Given the description of an element on the screen output the (x, y) to click on. 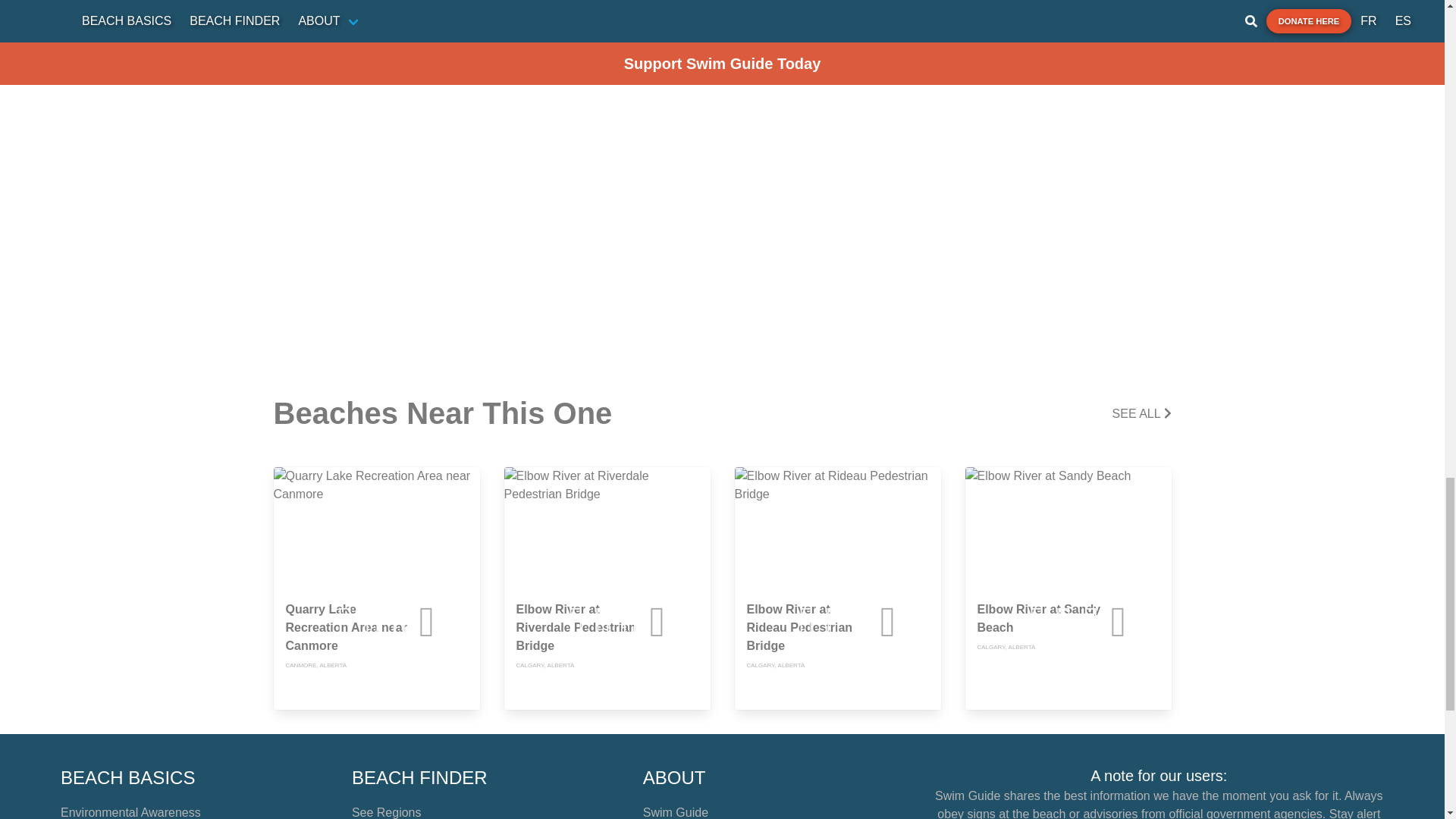
no data (1150, 621)
no data (919, 621)
SEE ALL (1142, 413)
no data (459, 621)
Environmental Awareness (130, 812)
no data (689, 621)
See Regions (387, 812)
